Given the description of an element on the screen output the (x, y) to click on. 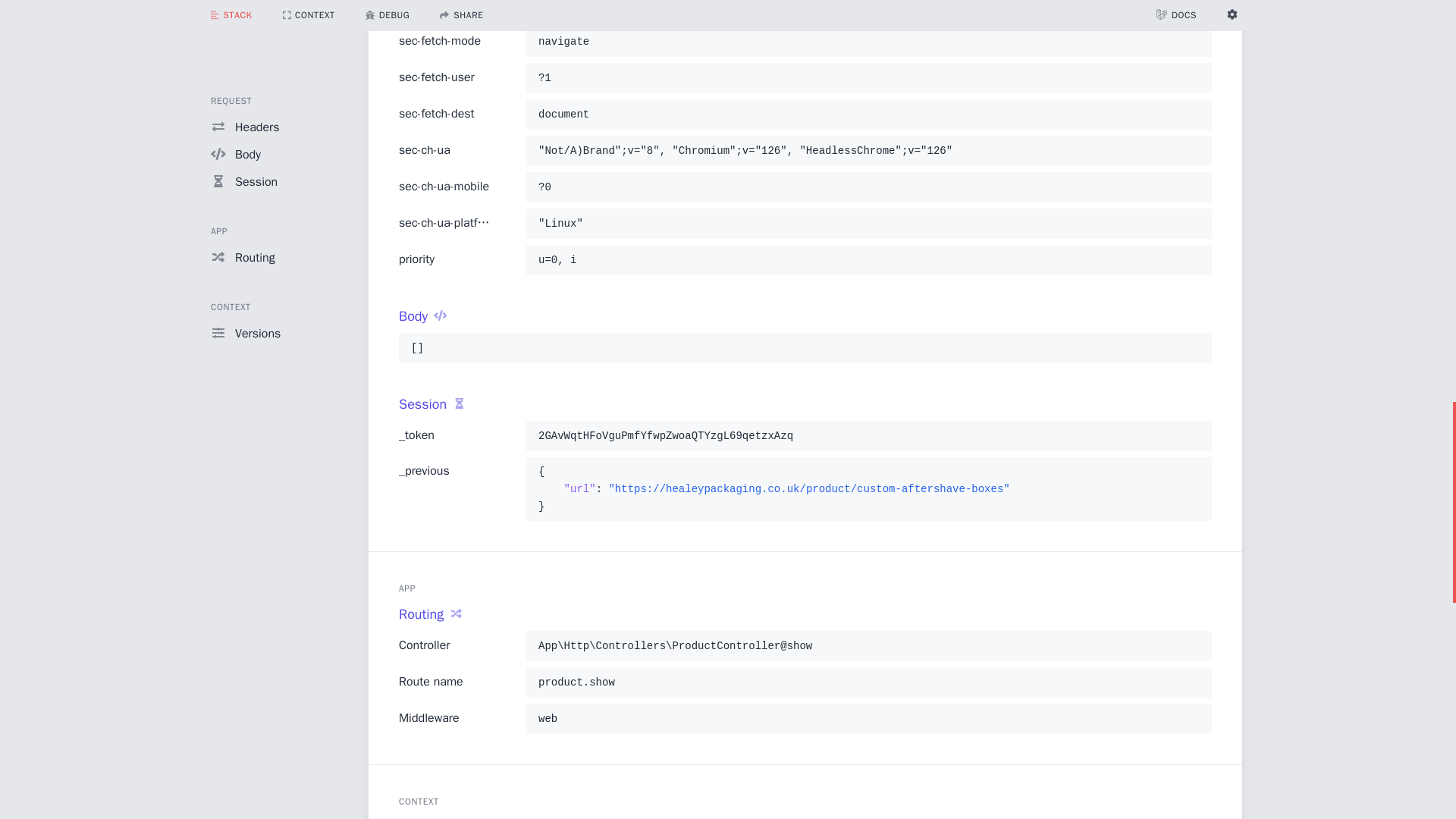
?1 (868, 77)
navigate (868, 41)
web (868, 719)
product.show (868, 682)
2GAvWqtHFoVguPmfYfwpZwoaQTYzgL69qetzxAzq (868, 435)
?0 (868, 187)
"Linux" (868, 223)
document (868, 114)
none (868, 7)
